Given the description of an element on the screen output the (x, y) to click on. 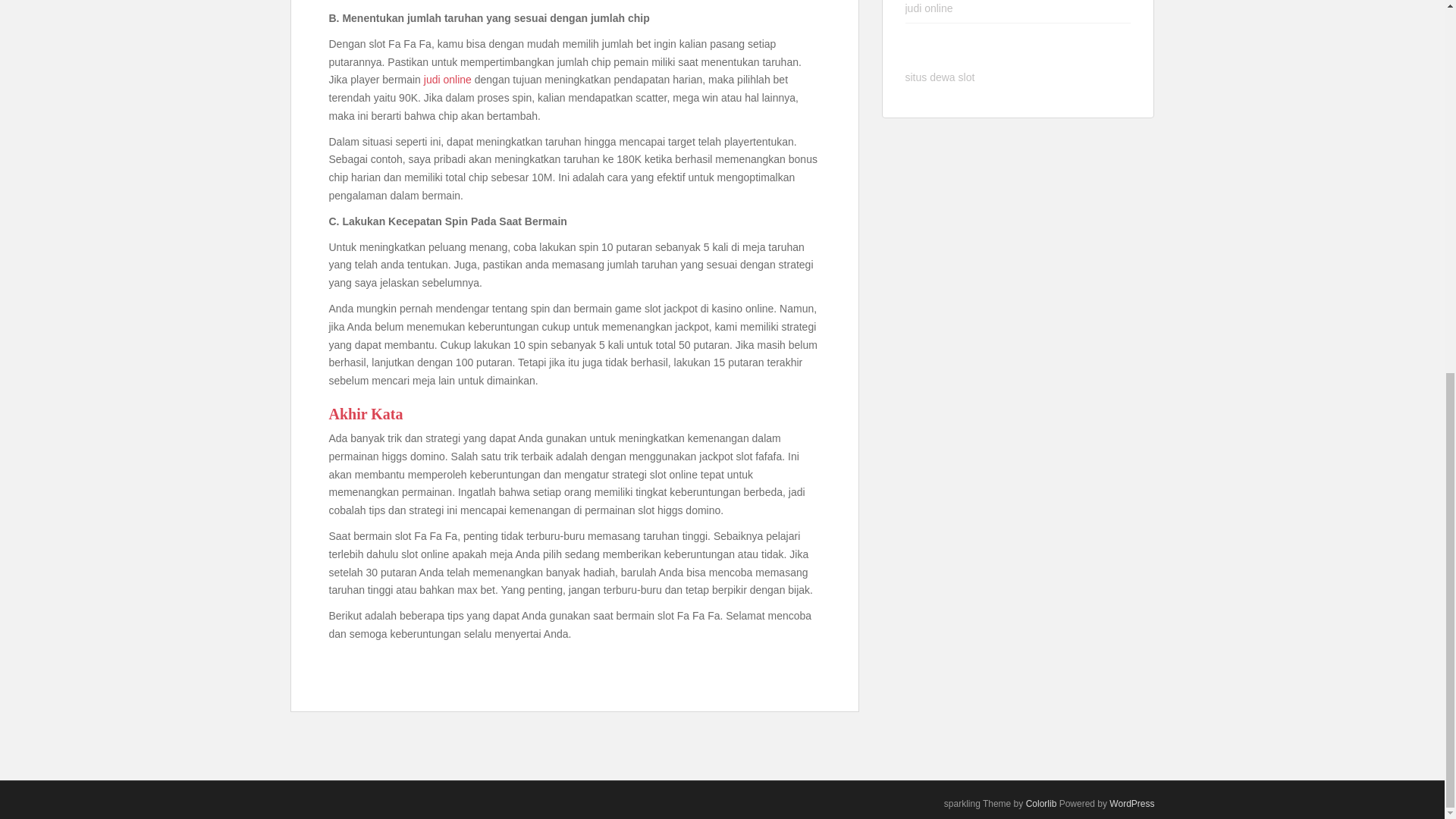
judi online (929, 8)
situs dewa slot (940, 77)
WordPress (1131, 803)
judi online (447, 79)
Colorlib (1041, 803)
